Given the description of an element on the screen output the (x, y) to click on. 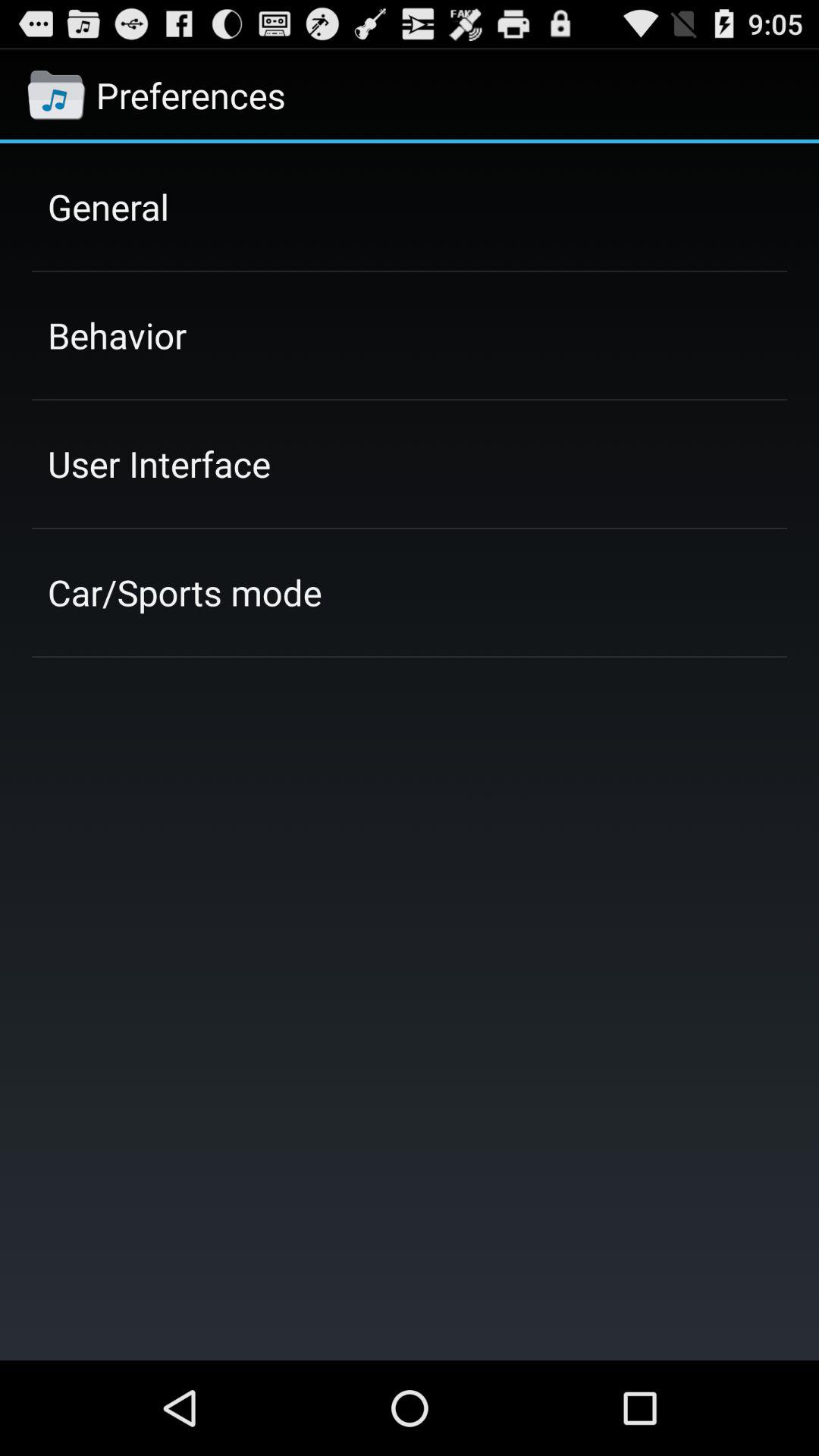
swipe until general (107, 206)
